Given the description of an element on the screen output the (x, y) to click on. 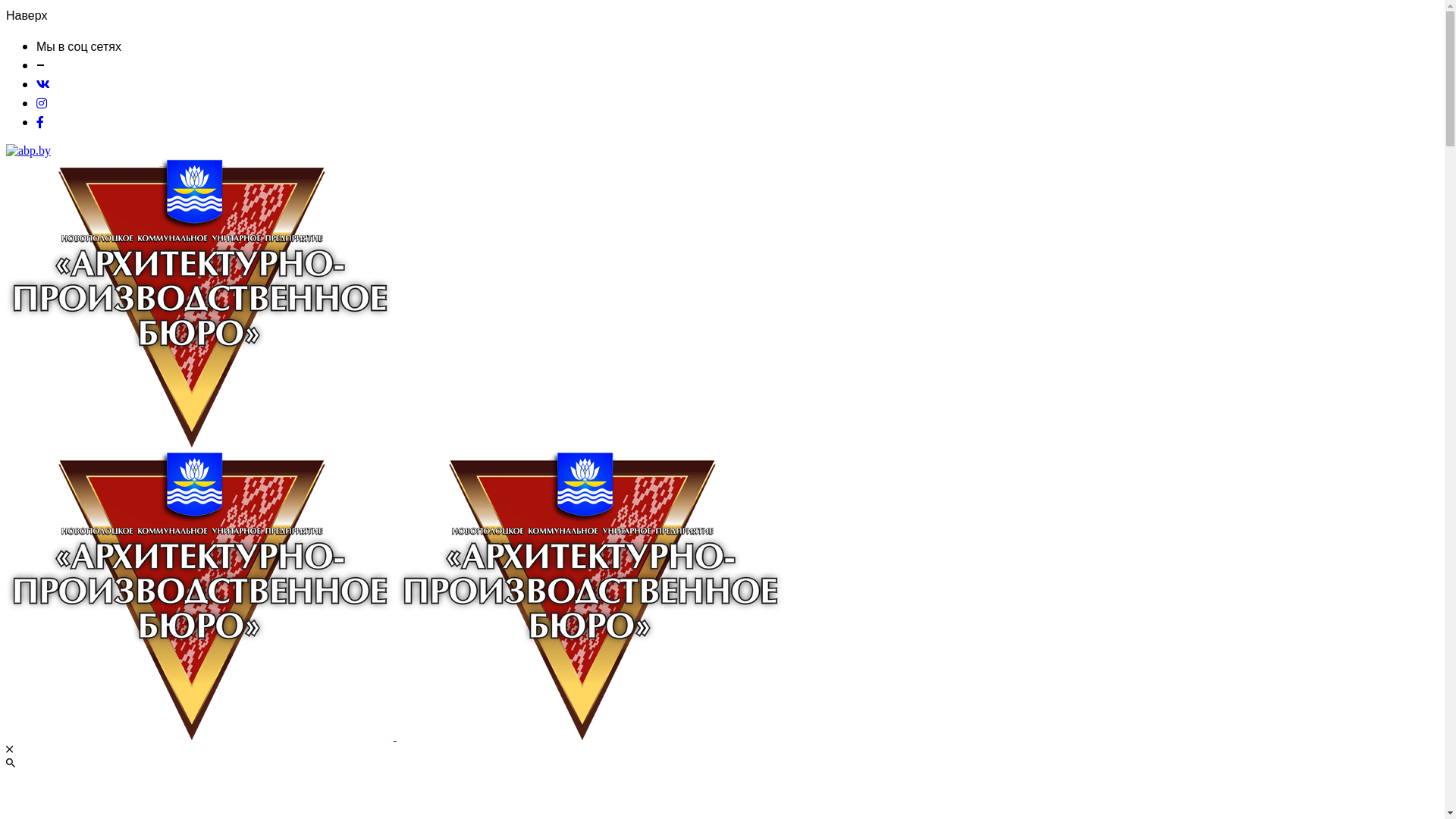
Skip to content Element type: text (5, 143)
